Given the description of an element on the screen output the (x, y) to click on. 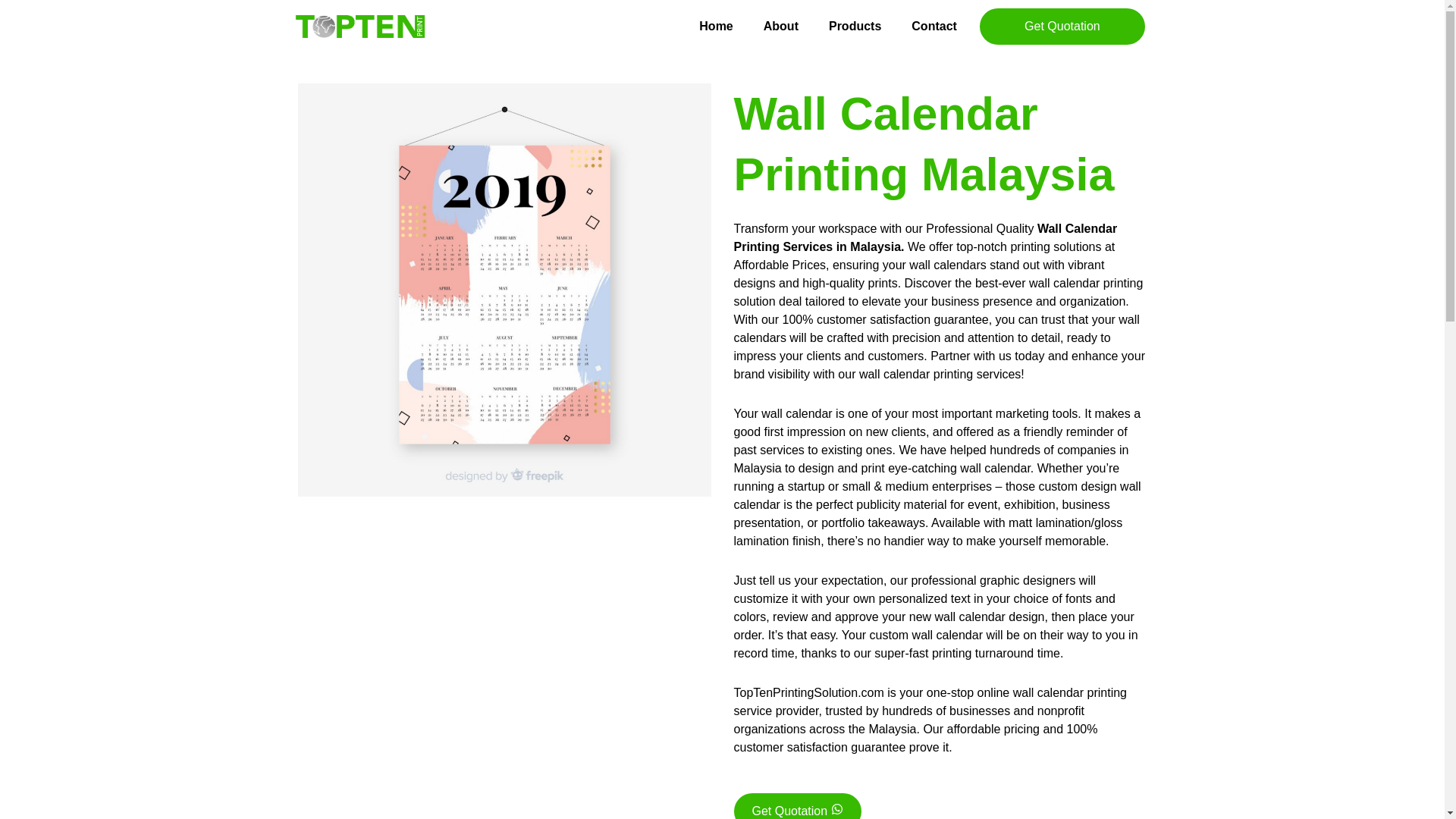
Contact (934, 26)
Get Quotation (797, 806)
Home (716, 26)
About (780, 26)
Products (854, 26)
Get Quotation (1061, 26)
